Given the description of an element on the screen output the (x, y) to click on. 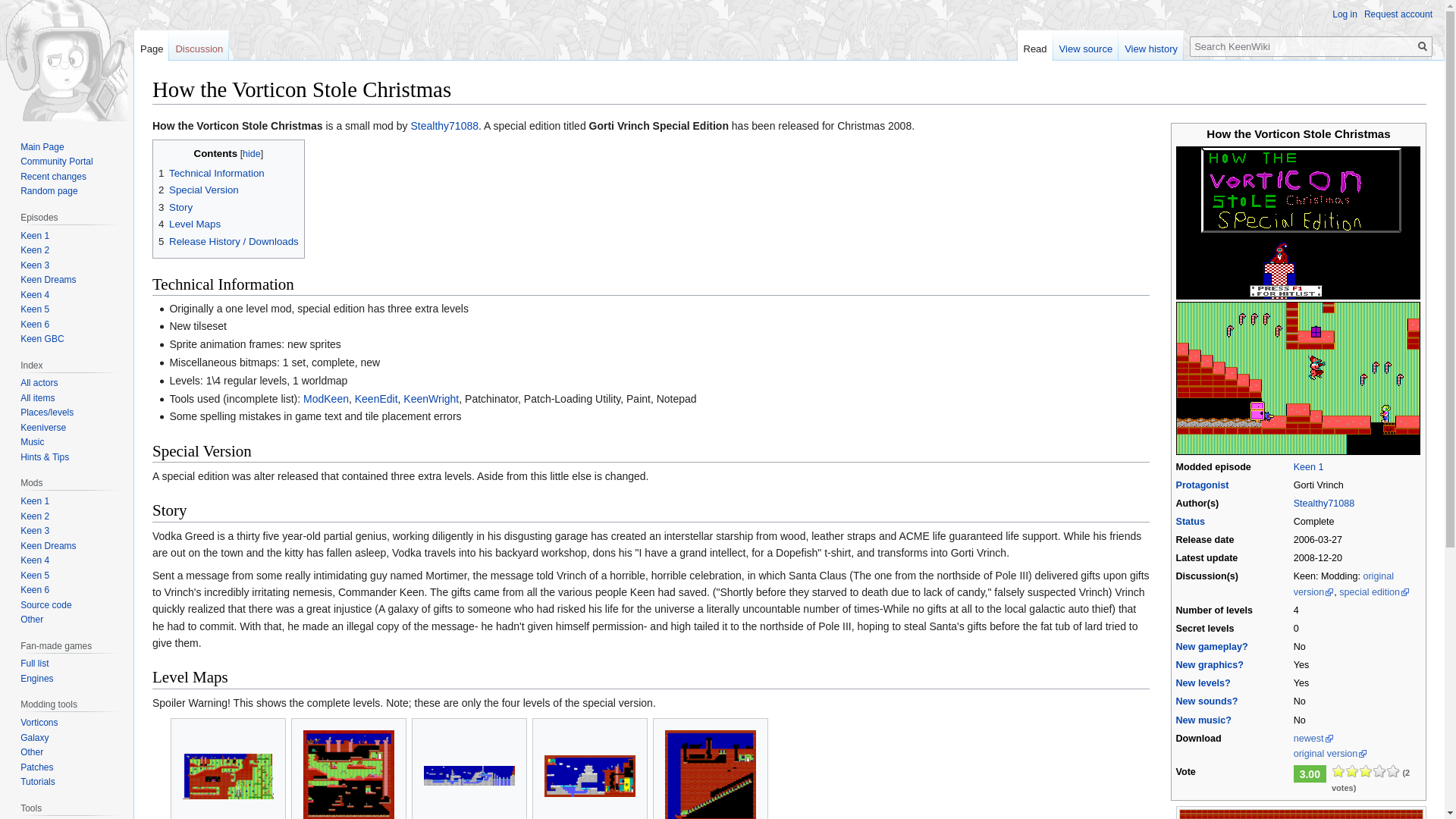
Keen 1 (1308, 466)
KeenEdit (376, 398)
2 Special Version (198, 189)
4 Level Maps (189, 224)
Property:Protagonist (1201, 484)
1 Technical Information (211, 173)
Stealthy71088 (1324, 502)
New levels? (1202, 683)
Property:Has new gameplay (1210, 646)
